Given the description of an element on the screen output the (x, y) to click on. 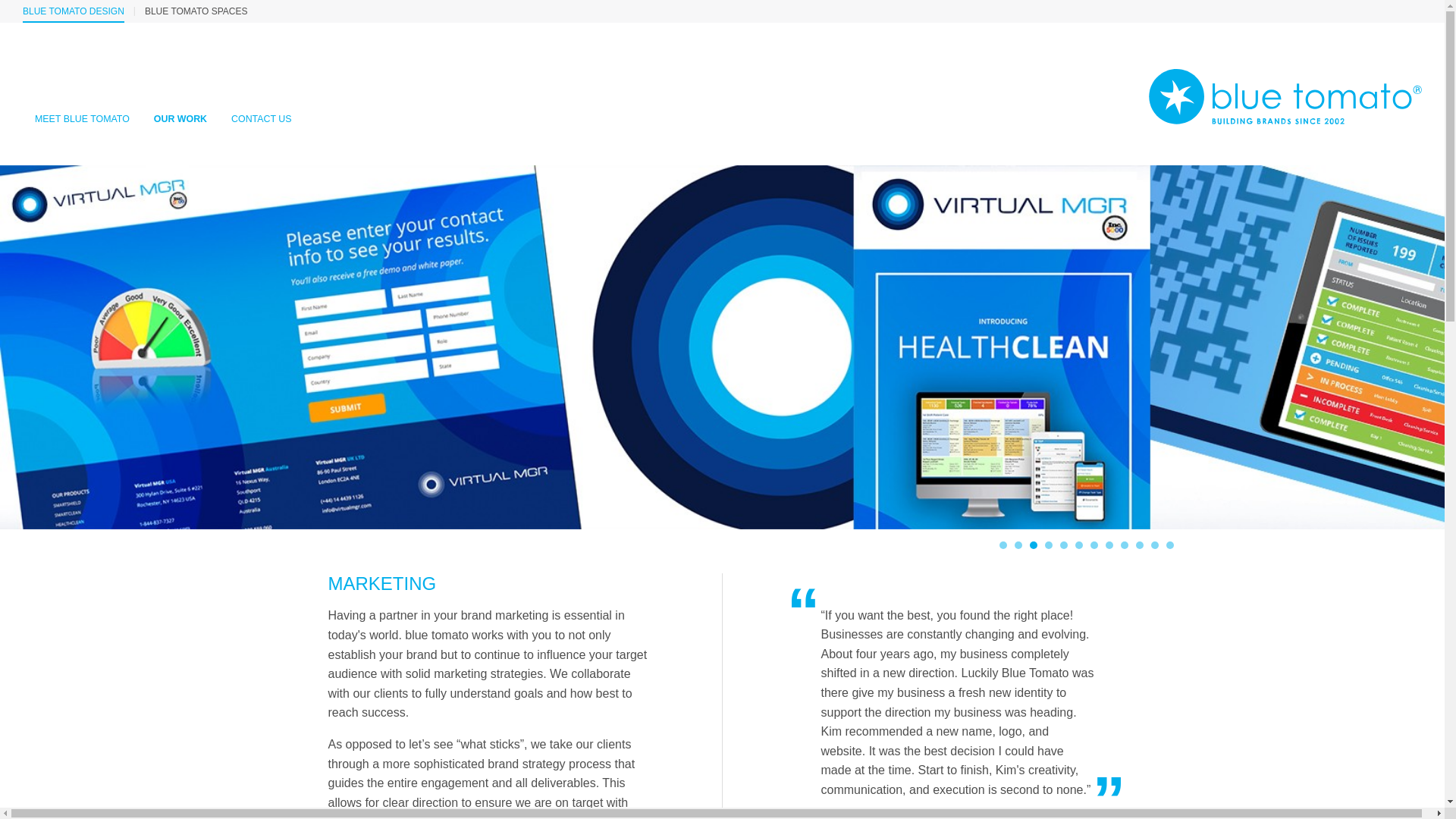
MEET BLUE TOMATO (82, 135)
CONTACT US (260, 135)
OUR WORK (180, 135)
BLUE TOMATO SPACES (195, 11)
